Given the description of an element on the screen output the (x, y) to click on. 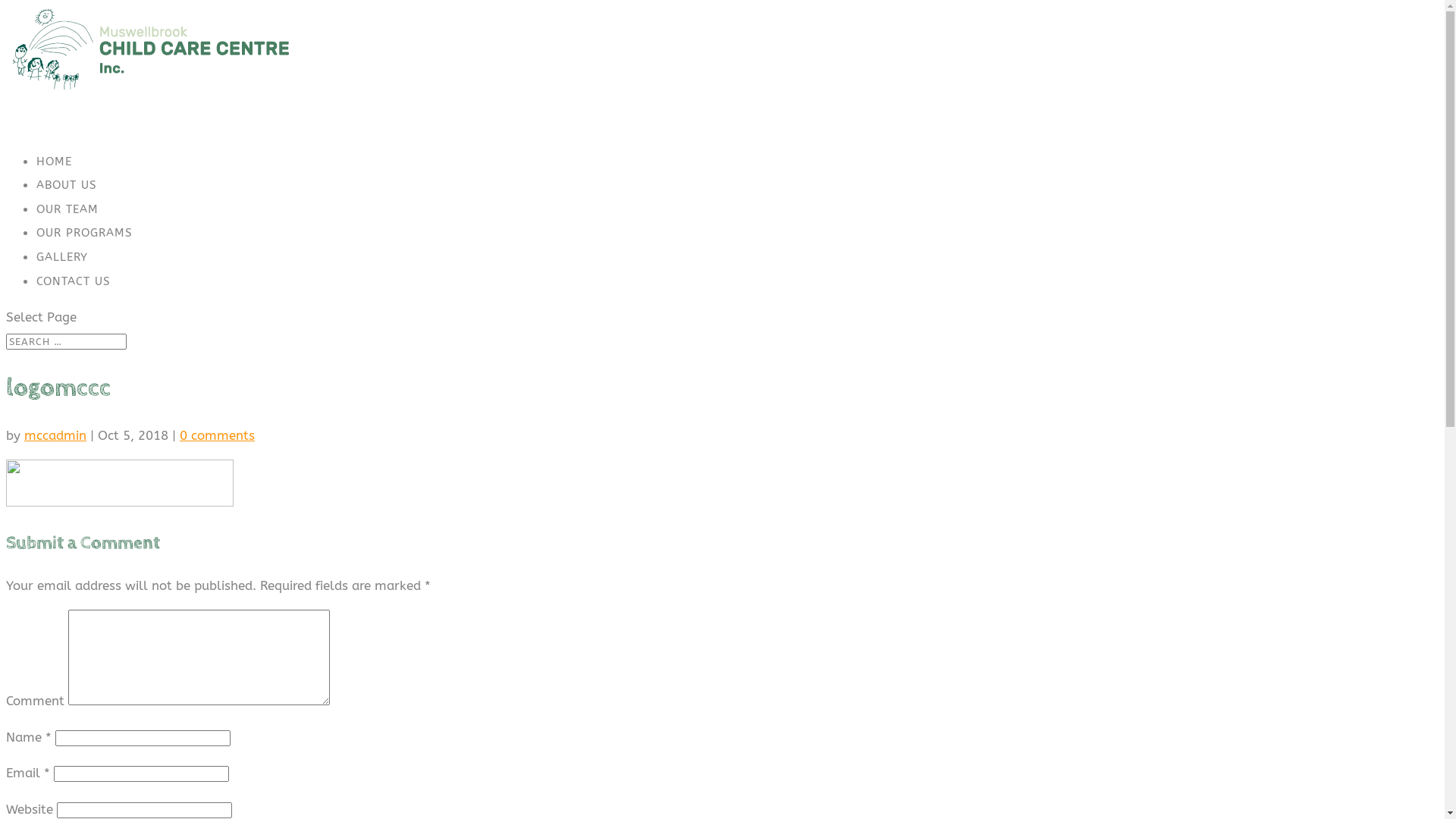
0 comments Element type: text (216, 434)
mccadmin Element type: text (55, 434)
ABOUT US Element type: text (66, 204)
HOME Element type: text (54, 180)
GALLERY Element type: text (61, 276)
OUR TEAM Element type: text (67, 228)
Search for: Element type: hover (66, 341)
OUR PROGRAMS Element type: text (84, 252)
CONTACT US Element type: text (73, 300)
